Given the description of an element on the screen output the (x, y) to click on. 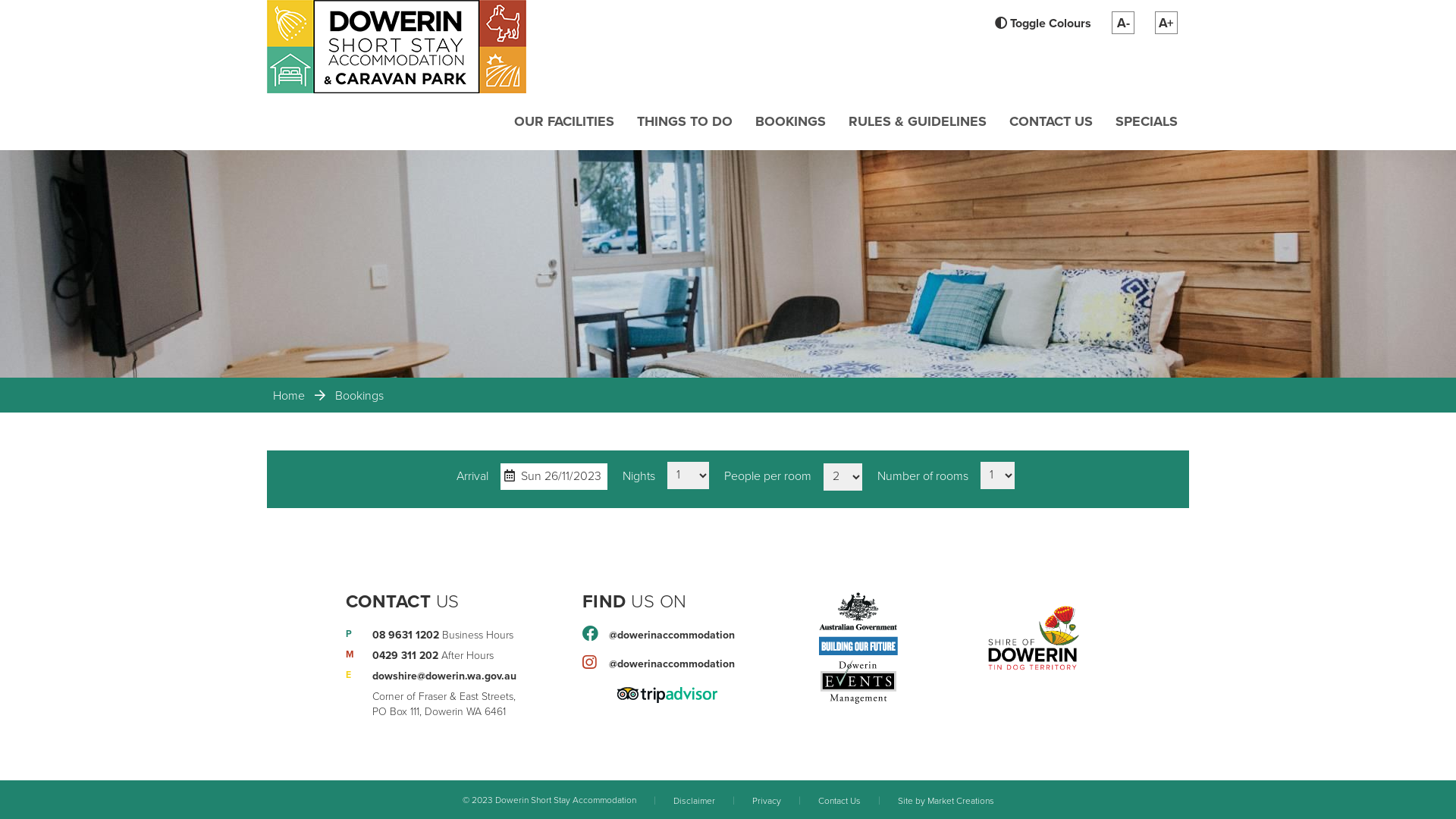
A+ Element type: text (1165, 22)
BOOKINGS Element type: text (790, 121)
Visit the Australian Government website Element type: hover (858, 624)
Privacy Element type: text (766, 799)
Site by Market Creations Element type: text (945, 799)
Bookings Element type: text (359, 395)
0429 311 202 Element type: text (405, 655)
Toggle Colours Element type: text (1034, 23)
THINGS TO DO Element type: text (684, 121)
08 9631 1202 Element type: text (405, 634)
Sun 26/11/2023 Element type: text (554, 476)
Disclaimer Element type: text (694, 799)
Visit the Shire of Dowerin website Element type: hover (1033, 636)
SPECIALS Element type: text (1146, 121)
@dowerinaccommodation Element type: text (671, 634)
CONTACT US Element type: text (1050, 121)
Visit the Dowerin Events website Element type: hover (858, 682)
OUR FACILITIES Element type: text (563, 121)
Dowerin Short Stay Accomodation Home Element type: hover (396, 45)
Contact Us Element type: text (838, 799)
@dowerinaccommodation Element type: text (671, 663)
View us on Trip Advisor Element type: hover (667, 693)
dowshire@dowerin.wa.gov.au Element type: text (444, 675)
A- Element type: text (1122, 22)
Home Element type: text (288, 395)
RULES & GUIDELINES Element type: text (917, 121)
